Given the description of an element on the screen output the (x, y) to click on. 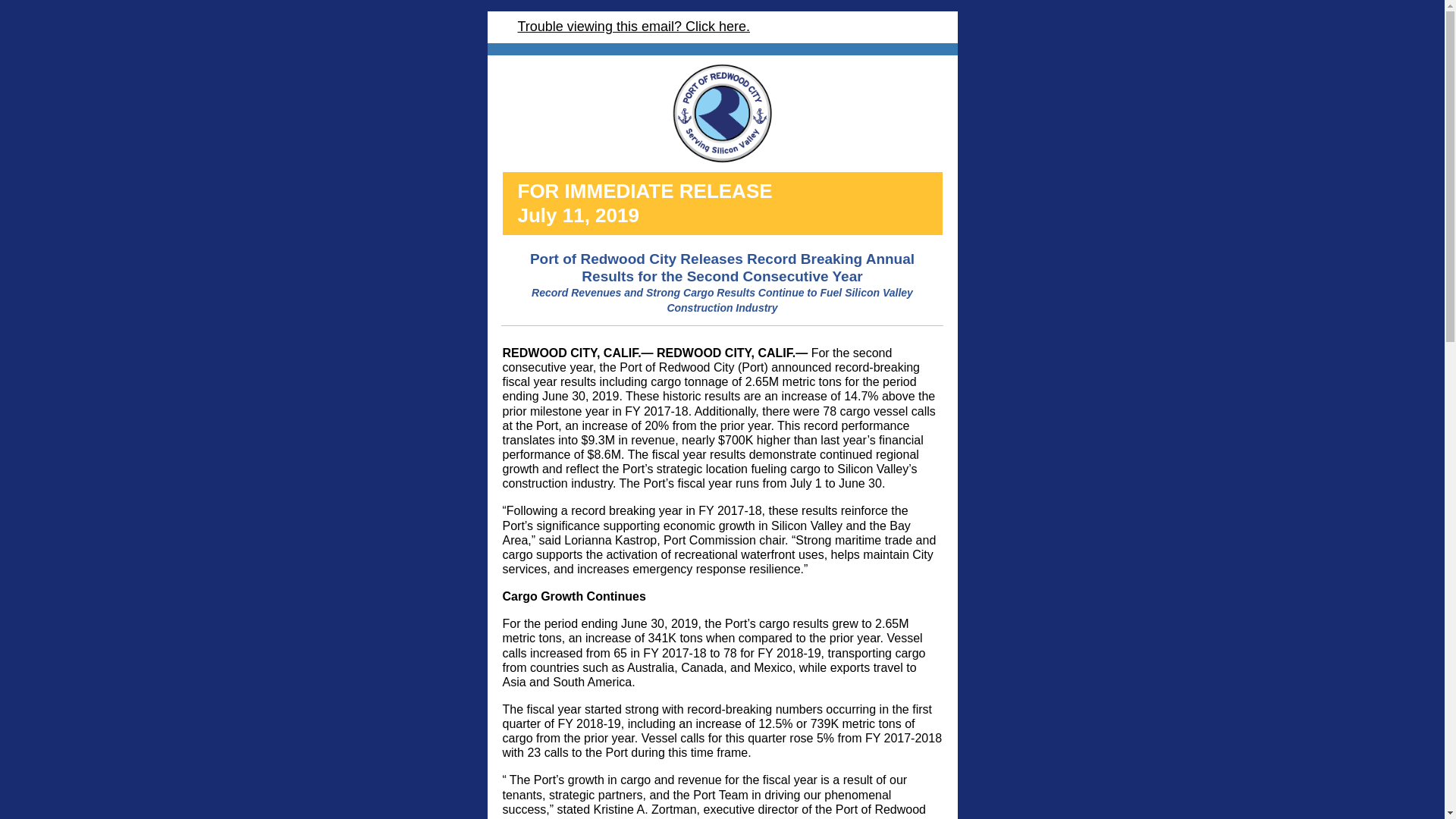
Trouble viewing this email? Click here. (632, 26)
